Given the description of an element on the screen output the (x, y) to click on. 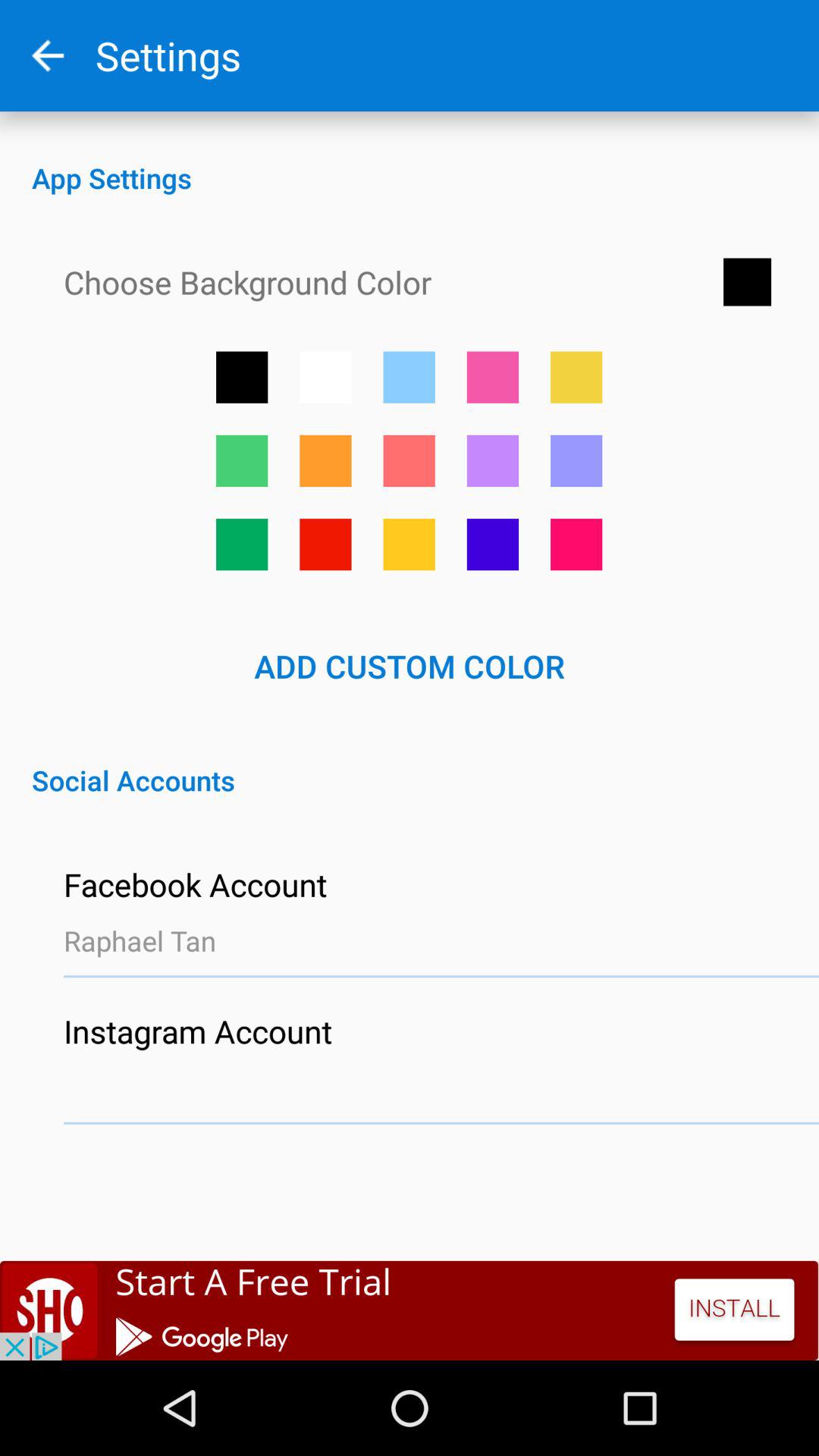
select light green color (241, 460)
